Given the description of an element on the screen output the (x, y) to click on. 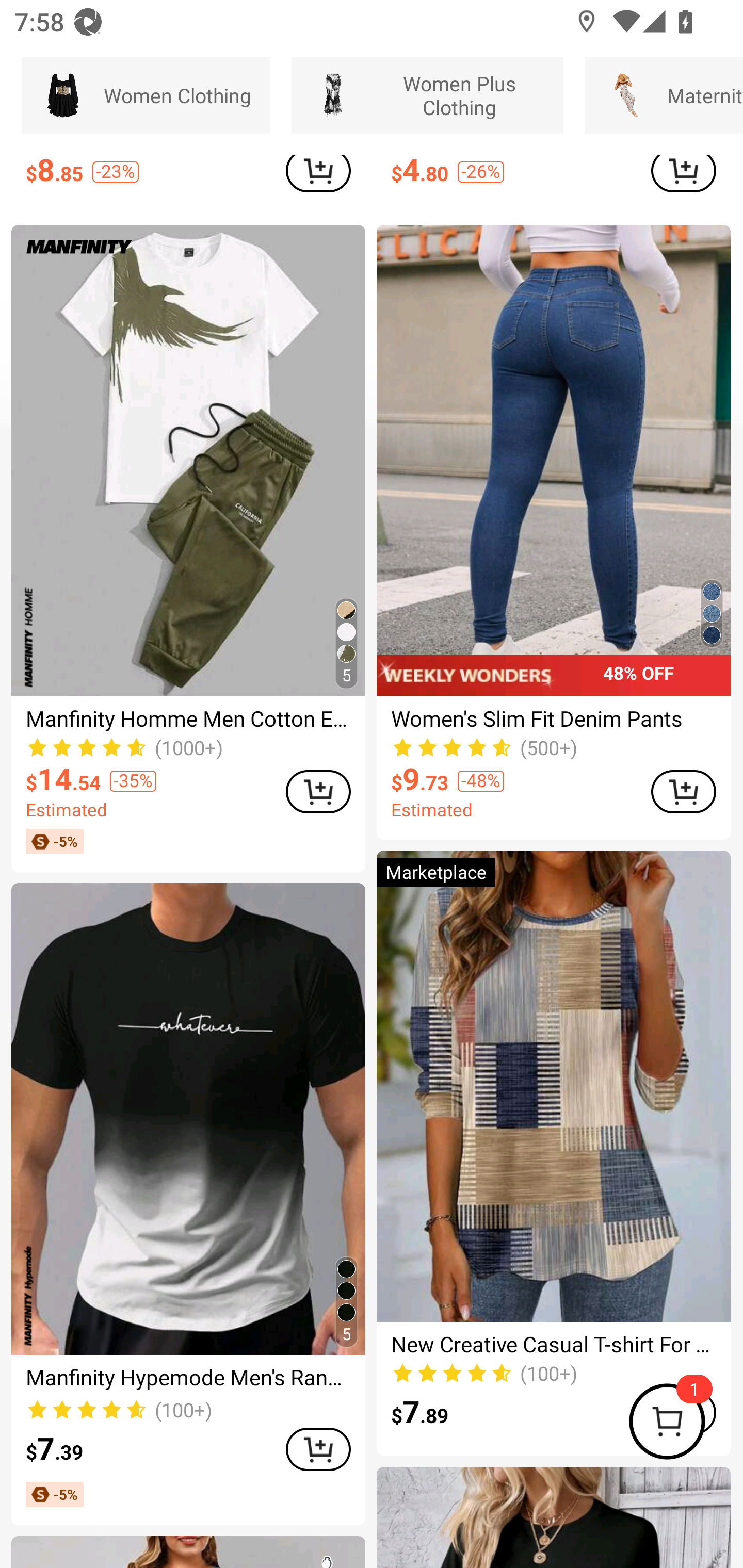
Women Clothing (145, 95)
Women Plus Clothing (427, 95)
Maternity Clothing (664, 95)
ADD TO CART (318, 173)
ADD TO CART (683, 173)
ADD TO CART (318, 791)
ADD TO CART (683, 791)
ADD TO CART (318, 1449)
